Given the description of an element on the screen output the (x, y) to click on. 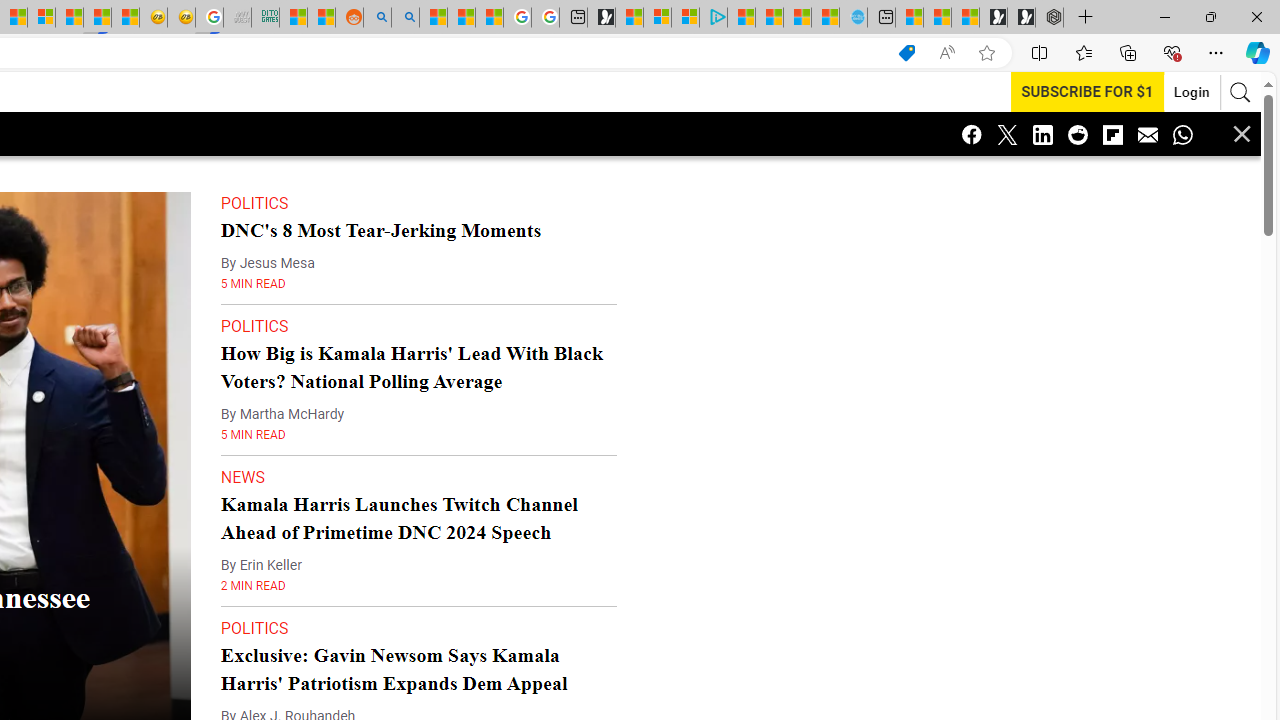
AutomationID: search-btn (1228, 92)
